Given the description of an element on the screen output the (x, y) to click on. 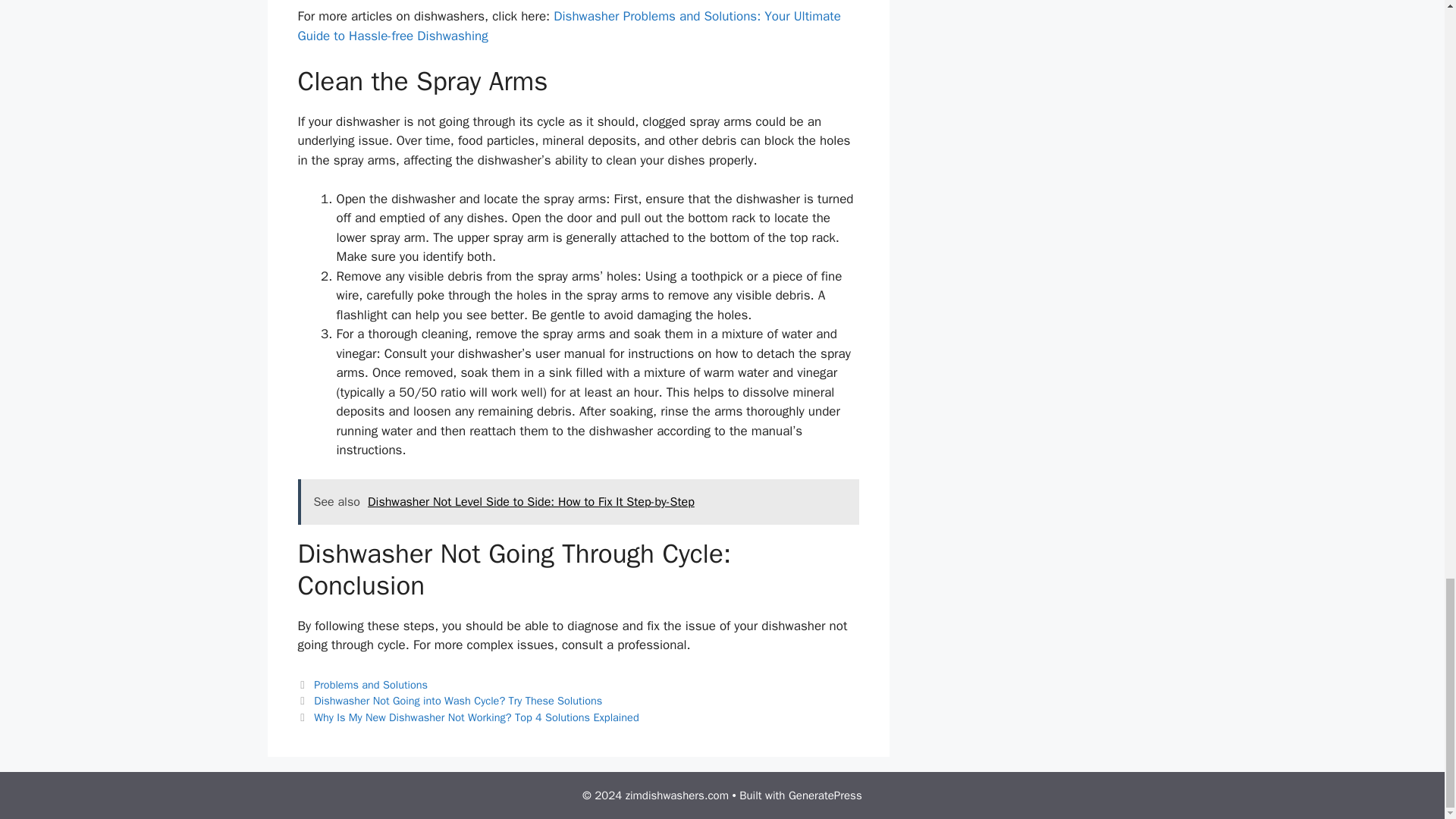
GeneratePress (825, 795)
Dishwasher Not Going into Wash Cycle? Try These Solutions (458, 700)
Problems and Solutions (371, 684)
